Given the description of an element on the screen output the (x, y) to click on. 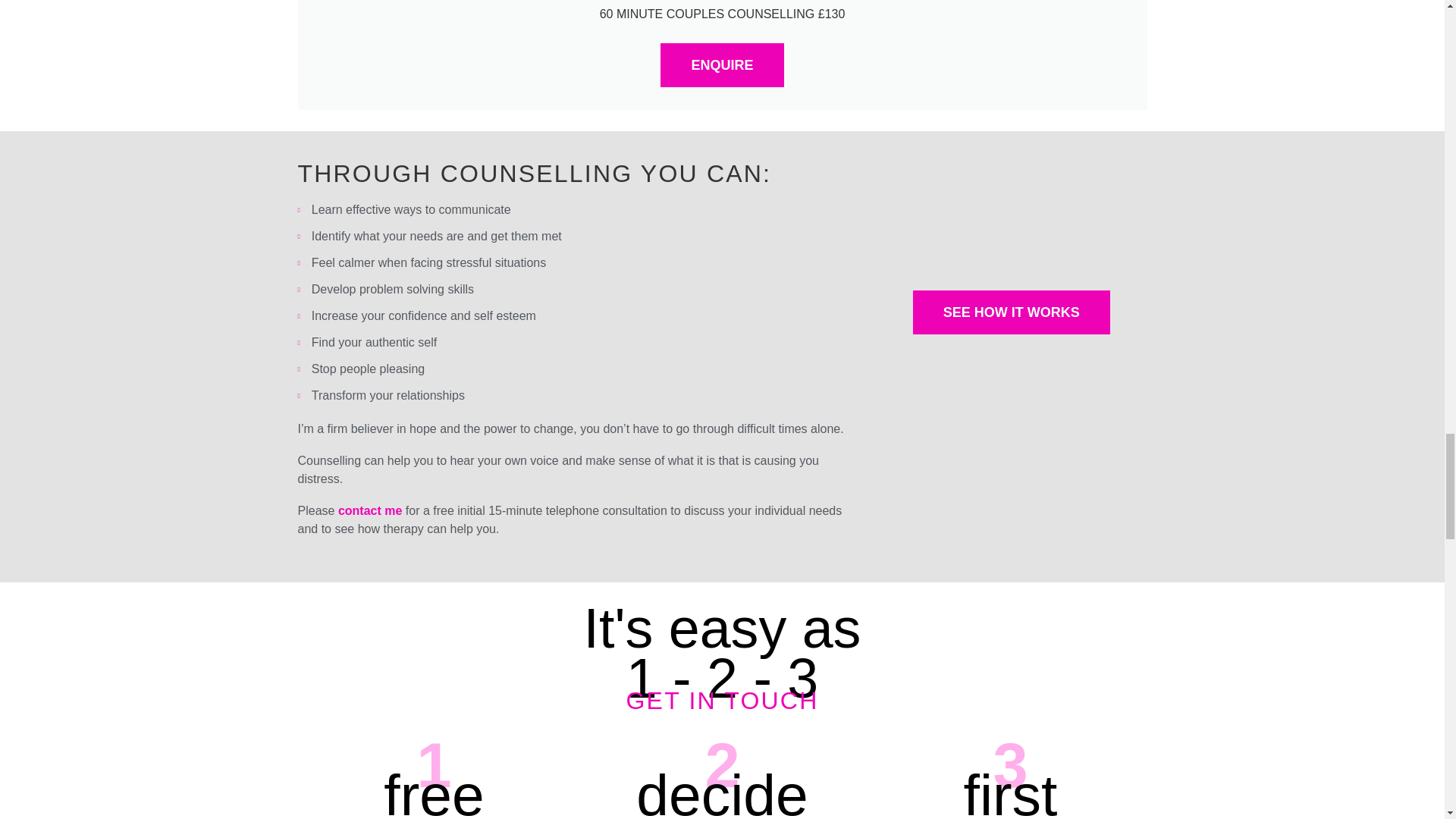
SEE HOW IT WORKS (1010, 312)
ENQUIRE (722, 64)
contact me (369, 510)
